Given the description of an element on the screen output the (x, y) to click on. 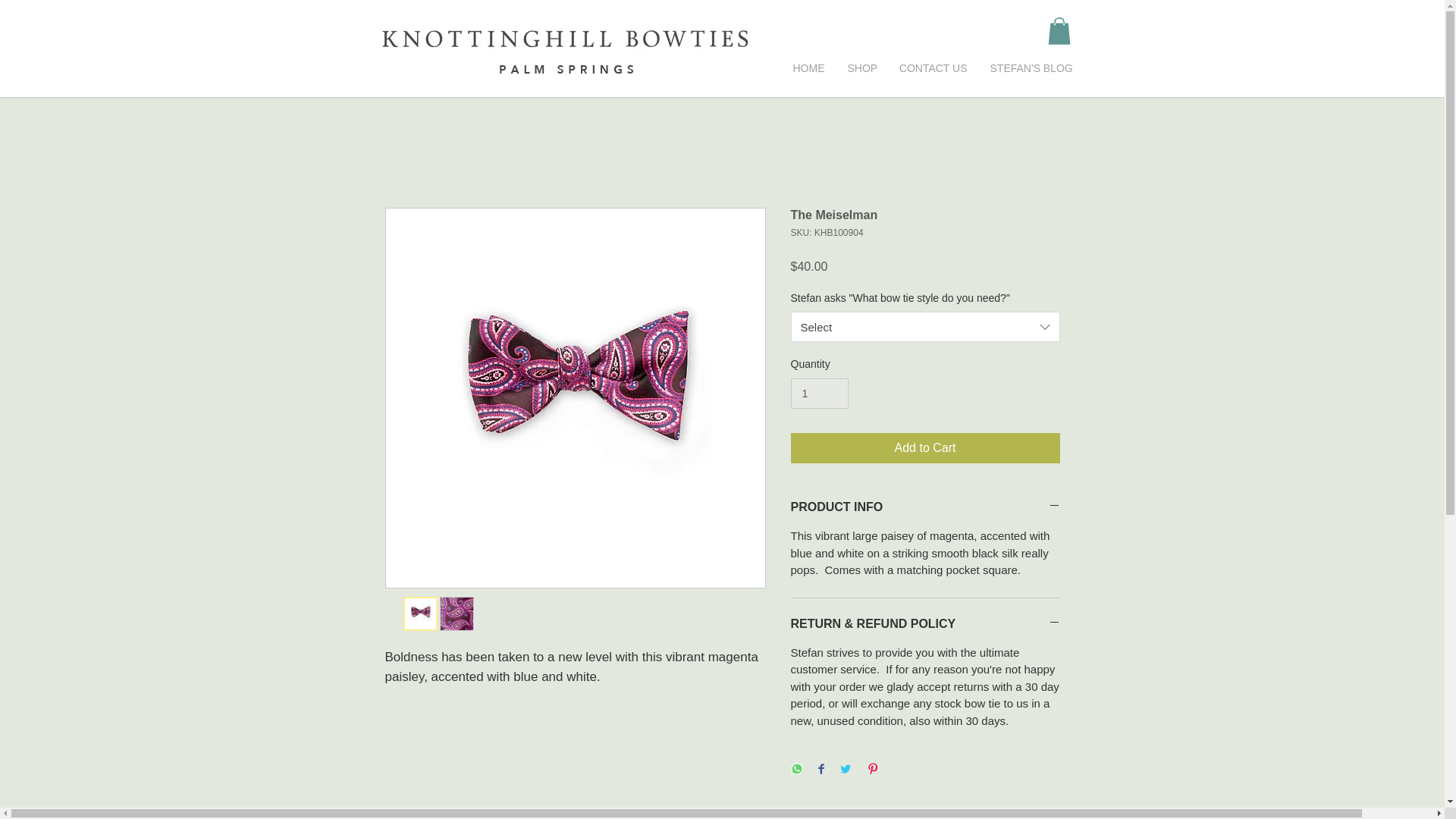
1 (818, 393)
SHOP (860, 68)
HOME (807, 68)
PRODUCT INFO (924, 507)
STEFAN'S BLOG (1028, 68)
Select (924, 327)
CONTACT US (932, 68)
Add to Cart (924, 448)
